Given the description of an element on the screen output the (x, y) to click on. 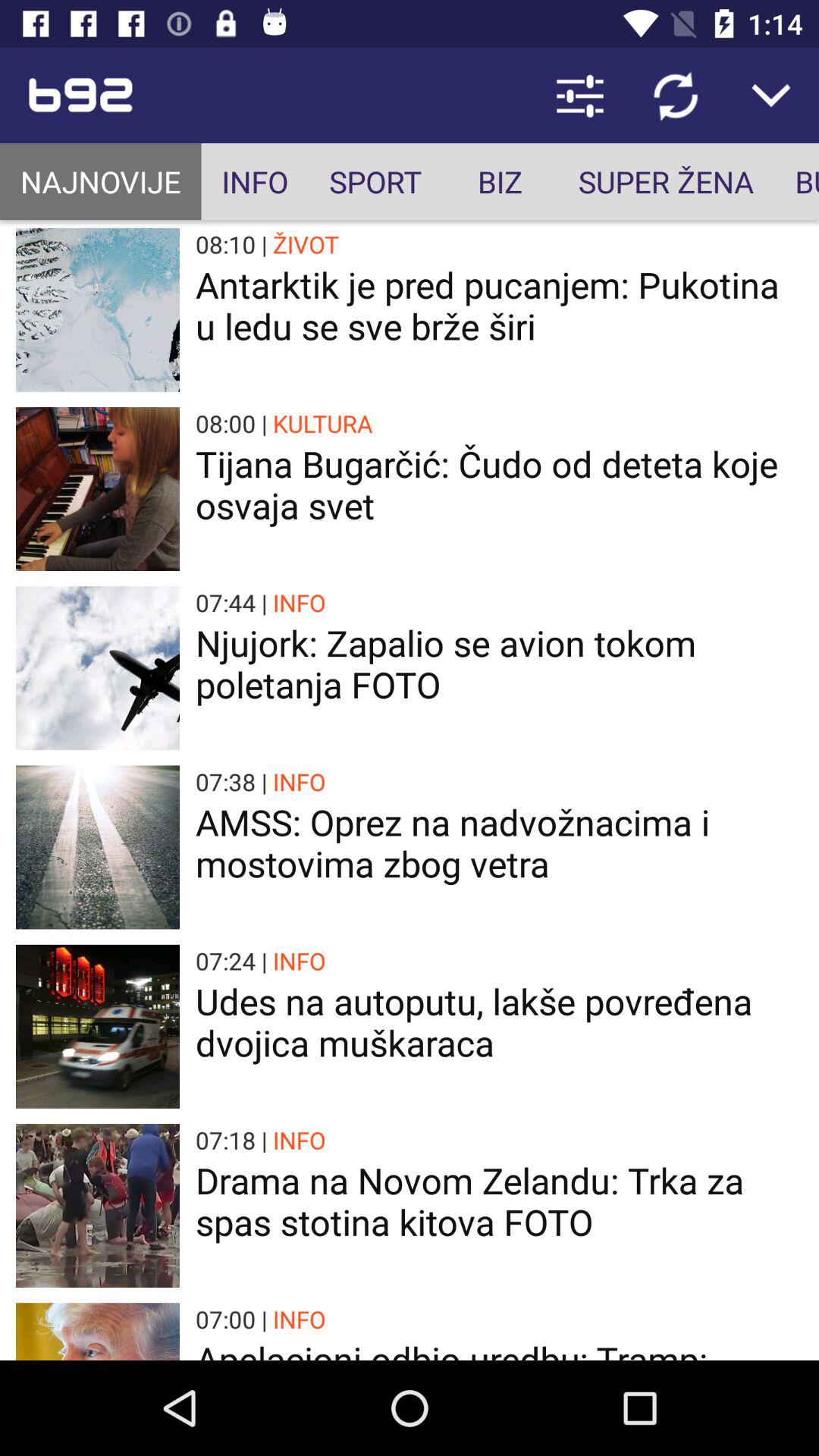
tap the icon to the right of 08:00 |  item (322, 423)
